Given the description of an element on the screen output the (x, y) to click on. 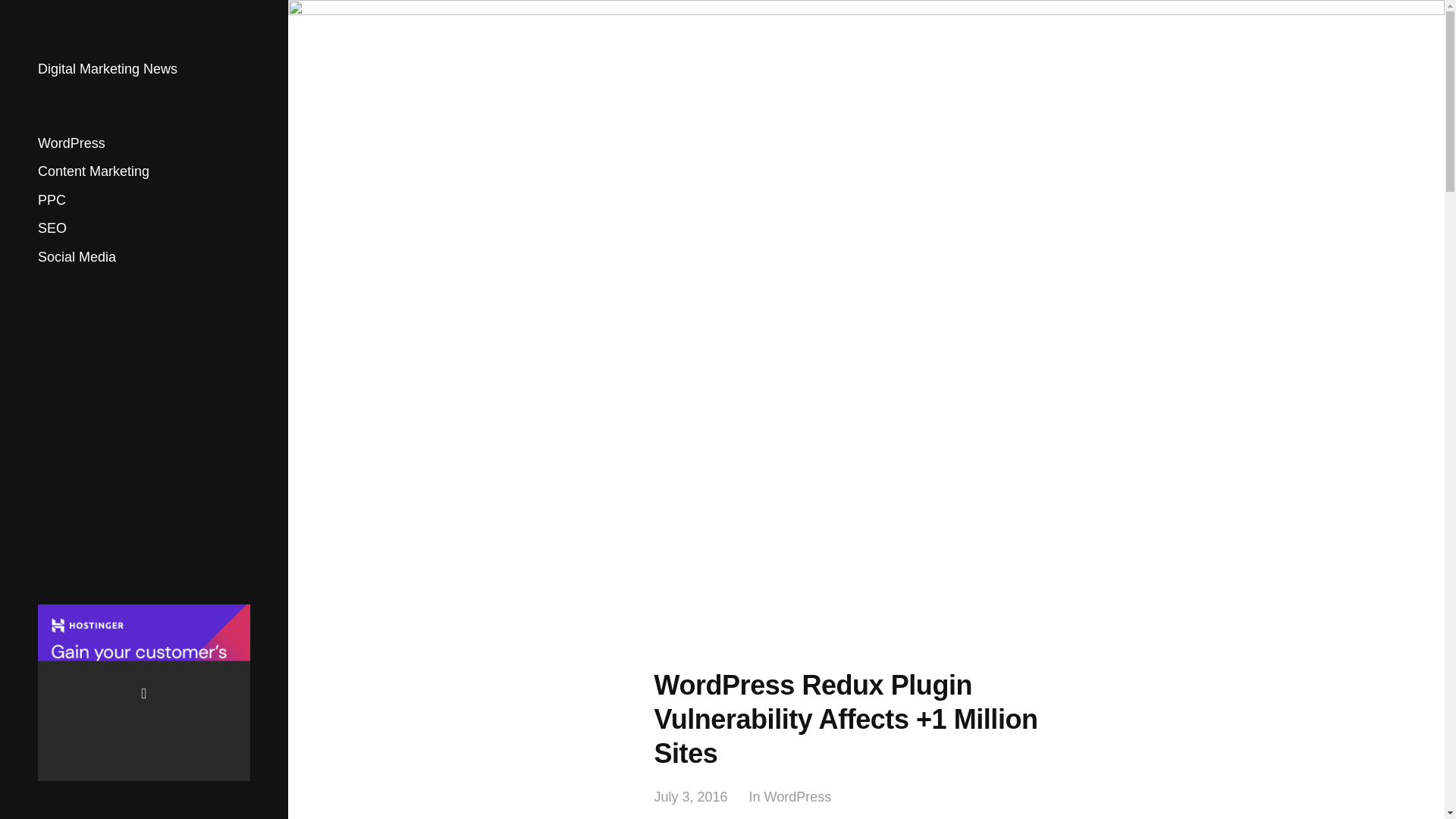
Content Marketing (93, 171)
WordPress (70, 142)
SEO (51, 228)
WordPress (797, 797)
PPC (51, 200)
Social Media (76, 256)
Digital Marketing News (107, 68)
July 3, 2016 (689, 797)
